Given the description of an element on the screen output the (x, y) to click on. 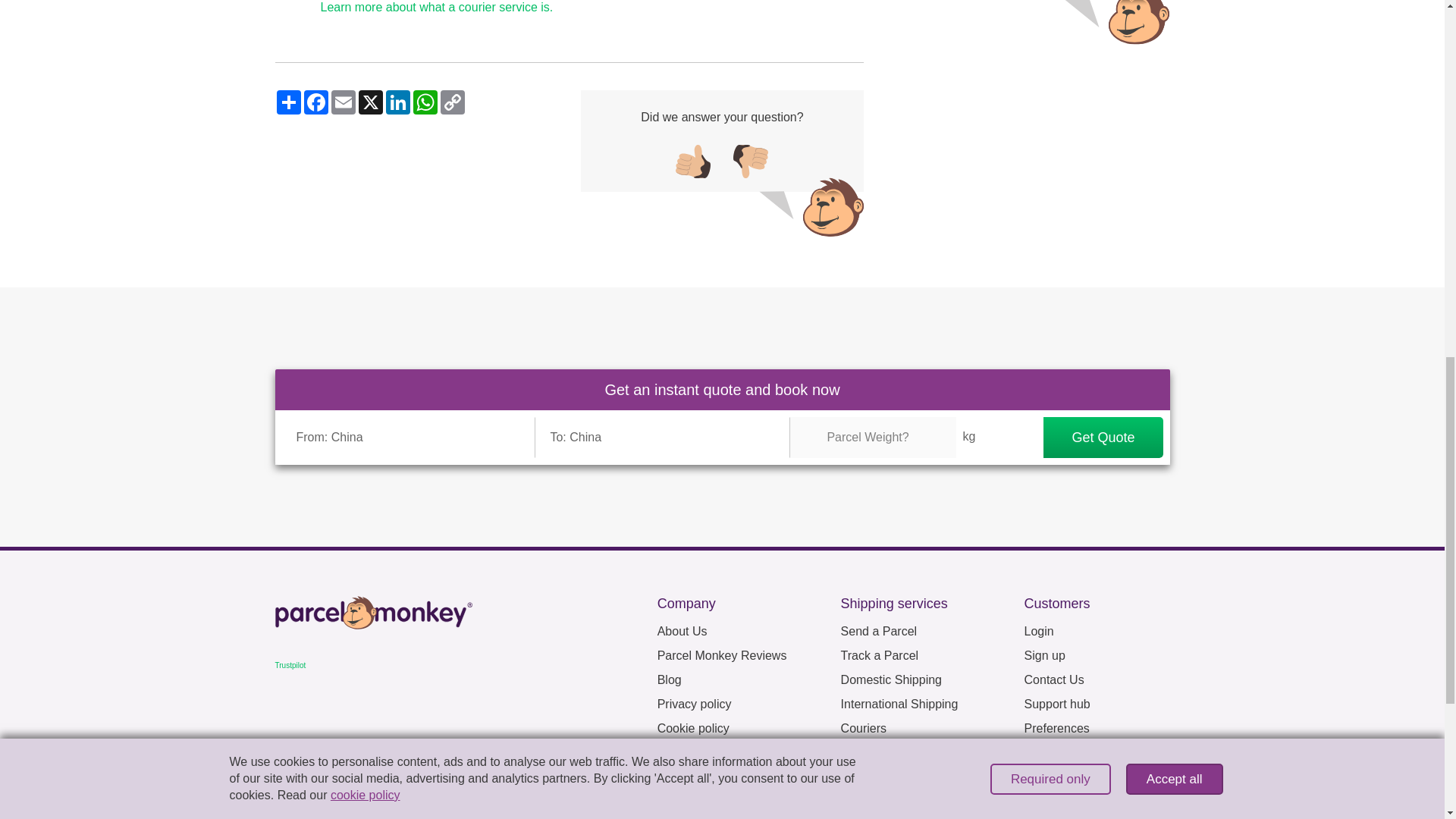
X (370, 102)
Copy Link (451, 102)
Get Quote (1102, 436)
Share (288, 102)
Facebook (315, 102)
Learn more about what a courier service is. (436, 6)
Email (342, 102)
LinkedIn (397, 102)
WhatsApp (424, 102)
